Given the description of an element on the screen output the (x, y) to click on. 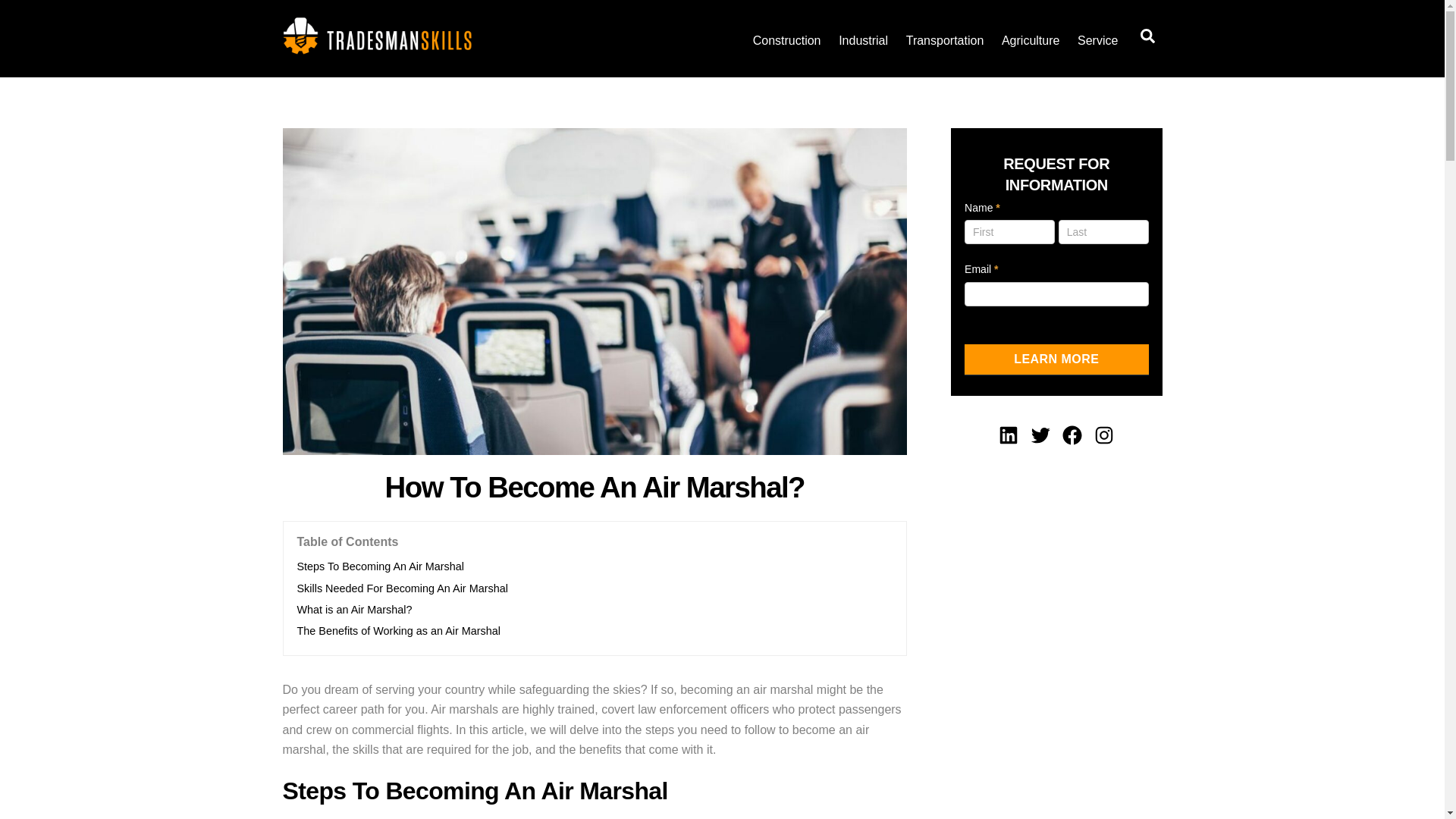
How To Become An Air Marshal? (595, 486)
Twitter (1040, 435)
TRADESMANSKILLS LOGO (376, 35)
LinkedIn (1008, 435)
The Benefits of Working as an Air Marshal (398, 630)
What is an Air Marshal? (354, 609)
Agriculture (1030, 40)
Steps To Becoming An Air Marshal (380, 566)
Skills Needed For Becoming An Air Marshal (402, 588)
Industrial (863, 40)
Service (1097, 40)
TradesmanSkills (376, 47)
Facebook (1072, 435)
